Given the description of an element on the screen output the (x, y) to click on. 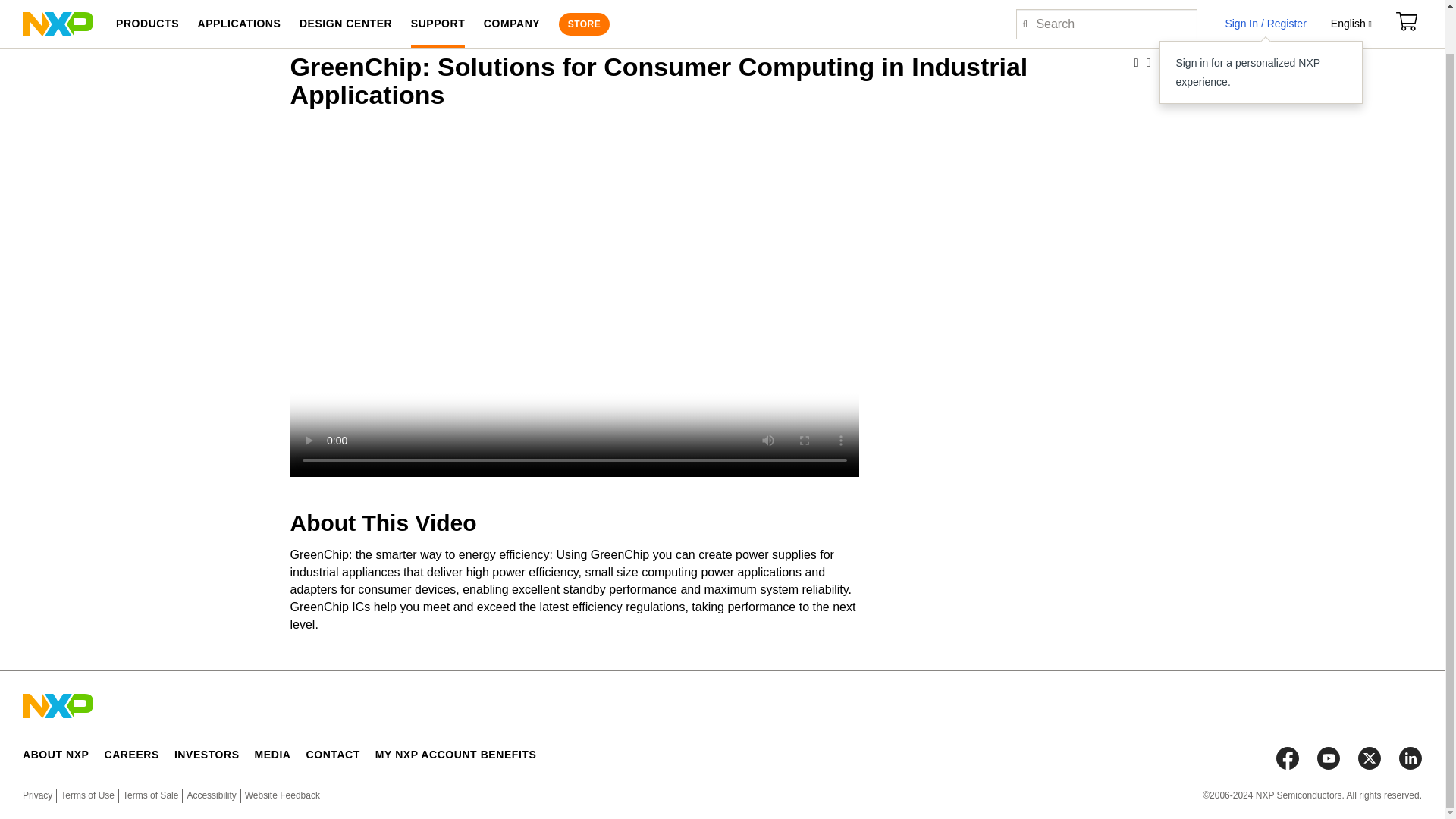
NXP Semiconductor (58, 0)
COMPANY (511, 0)
APPLICATIONS (238, 0)
SUPPORT (437, 0)
PRODUCTS (147, 0)
DESIGN CENTER (345, 0)
English  (1350, 0)
